Given the description of an element on the screen output the (x, y) to click on. 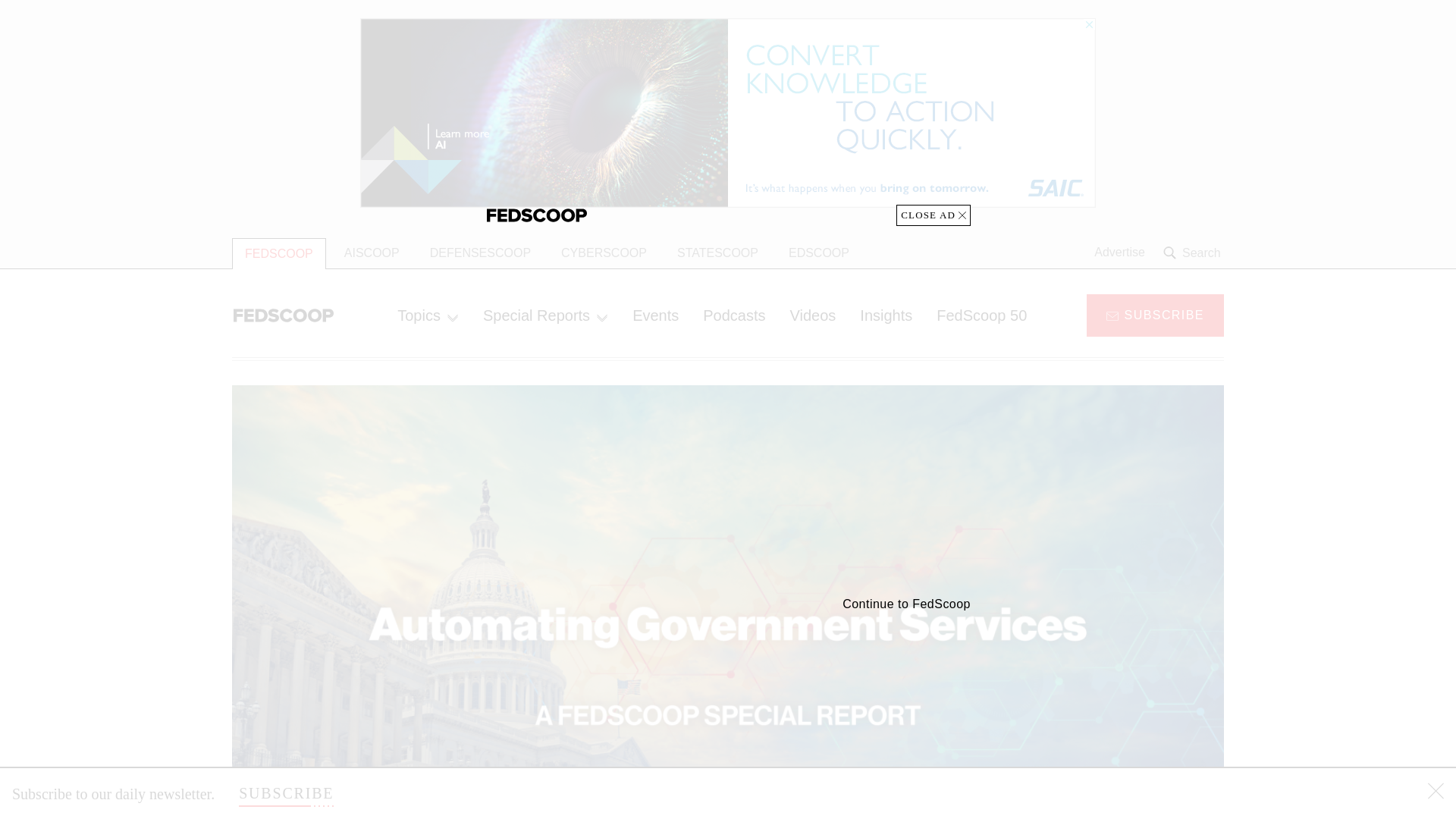
Events (655, 315)
AISCOOP (371, 253)
EDSCOOP (818, 253)
Topics (427, 315)
Special Reports (545, 315)
Videos (812, 315)
FEDSCOOP (278, 253)
Insights (885, 315)
CYBERSCOOP (603, 253)
Advertise (1119, 252)
STATESCOOP (717, 253)
Podcasts (733, 315)
DEFENSESCOOP (480, 253)
